Given the description of an element on the screen output the (x, y) to click on. 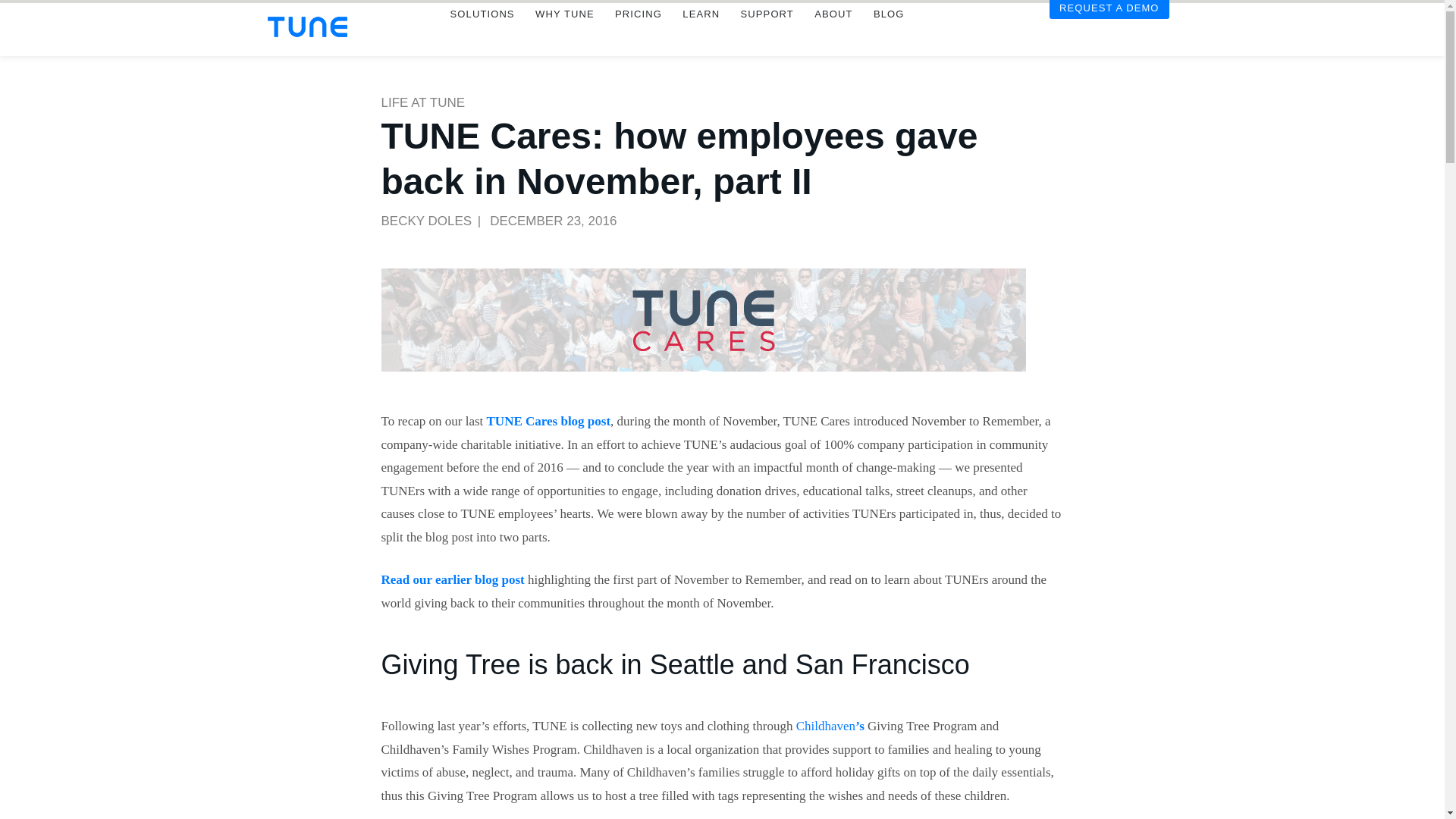
SOLUTIONS (481, 35)
Performance Marketing Platform (306, 26)
TUNE Blog (888, 35)
BLOG (888, 35)
PRICING (637, 35)
ABOUT (832, 35)
WHY TUNE (563, 35)
SUPPORT (767, 35)
Get Started (1108, 29)
LEARN (700, 35)
